Given the description of an element on the screen output the (x, y) to click on. 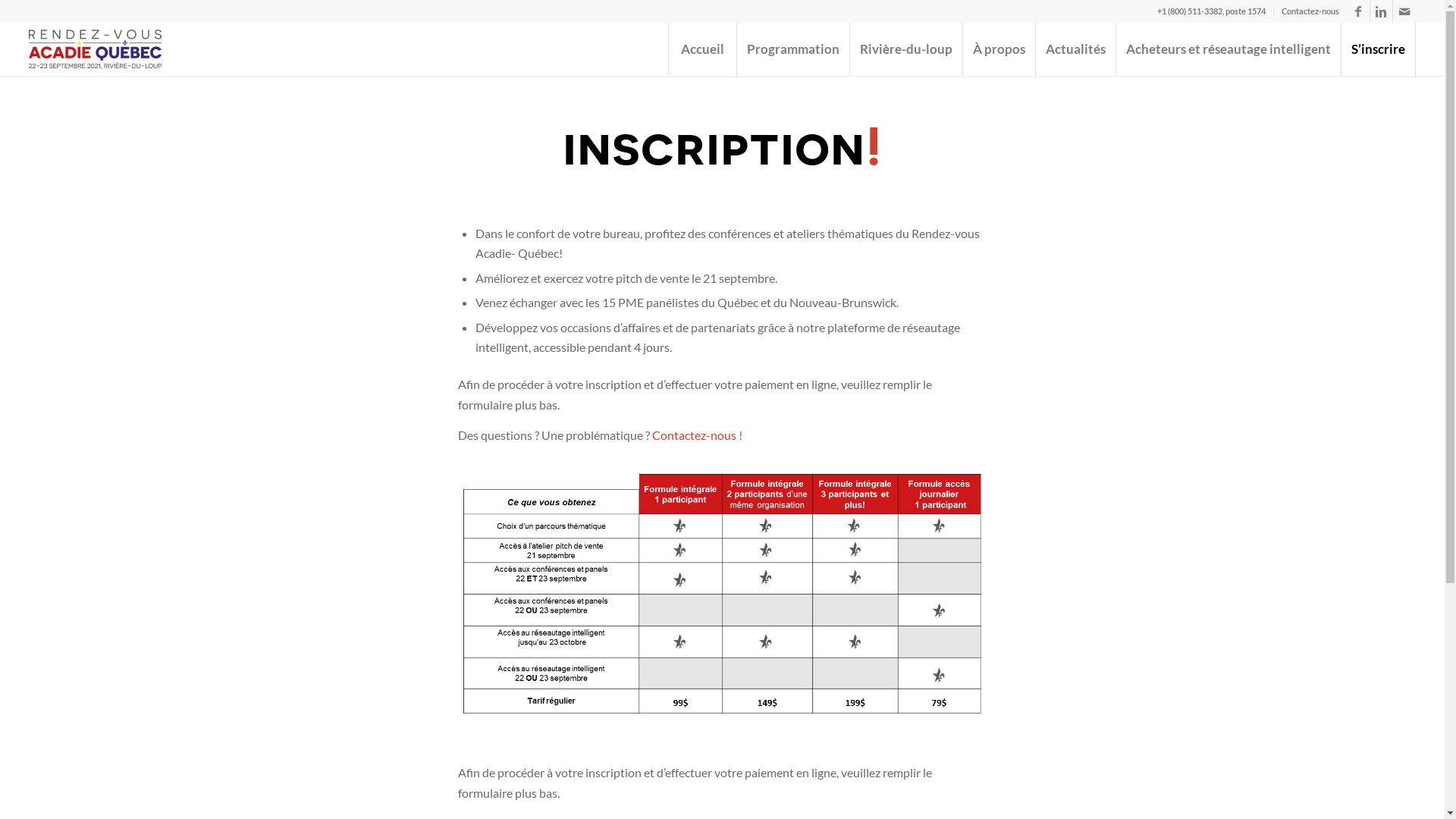
Mail Element type: hover (1404, 11)
Linkedin Element type: hover (1381, 11)
RVAQ-Liste des prix-3 Element type: hover (722, 604)
Contactez-nous ! Element type: text (697, 434)
+1 (800) 511-3382, poste 1574 Element type: text (1211, 10)
Programmation Element type: text (792, 48)
Accueil Element type: text (702, 48)
Facebook Element type: hover (1358, 11)
Contactez-nous Element type: text (1310, 10)
